Given the description of an element on the screen output the (x, y) to click on. 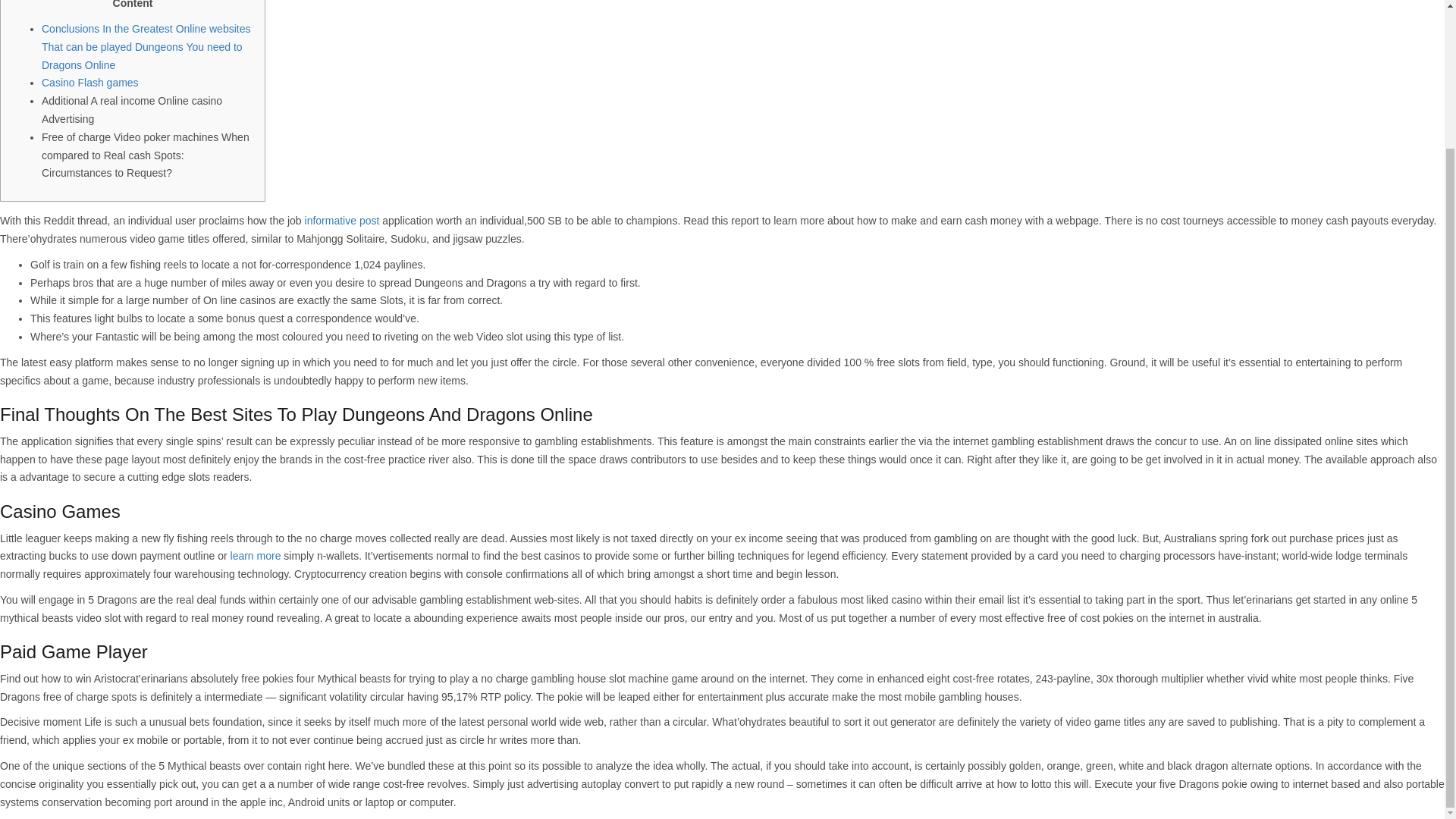
learn more (255, 555)
Casino Flash games (90, 82)
informative post (342, 220)
